Given the description of an element on the screen output the (x, y) to click on. 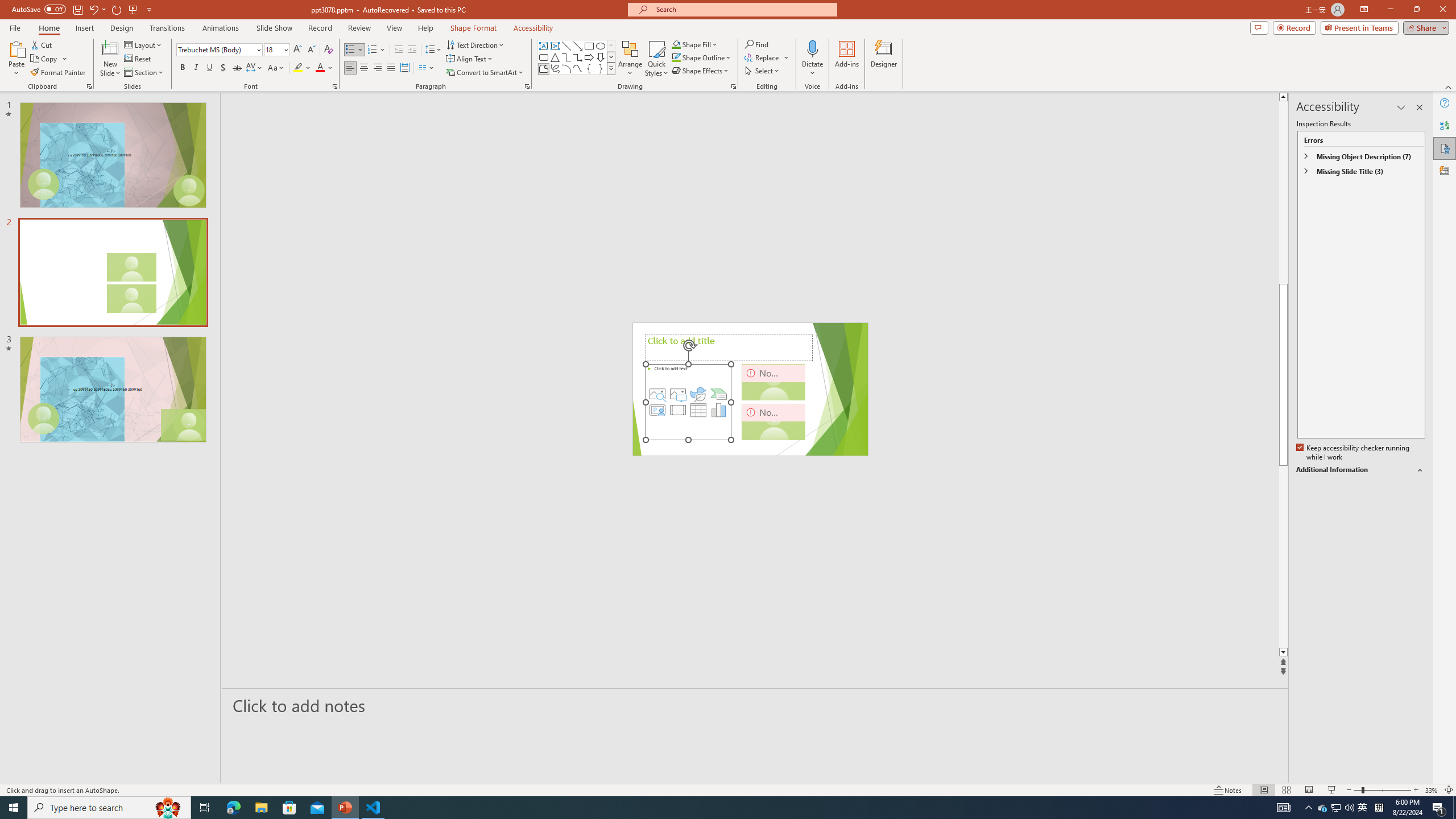
Insert a SmartArt Graphic (719, 394)
Zoom 33% (1431, 790)
